Given the description of an element on the screen output the (x, y) to click on. 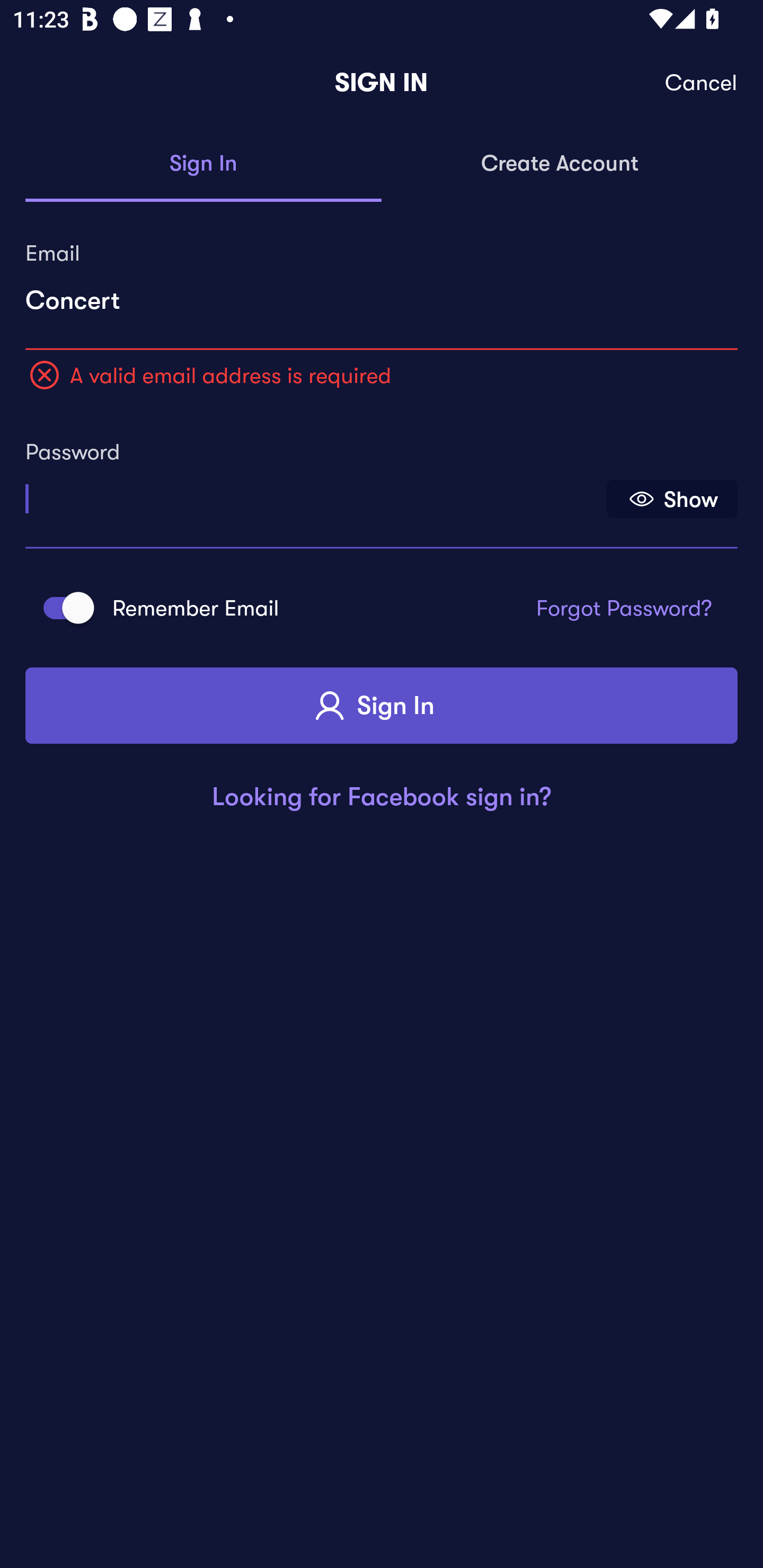
Cancel (701, 82)
Sign In (203, 164)
Create Account (559, 164)
Password (314, 493)
Show Password Show (671, 498)
Remember Email (62, 607)
Sign In (381, 705)
